Given the description of an element on the screen output the (x, y) to click on. 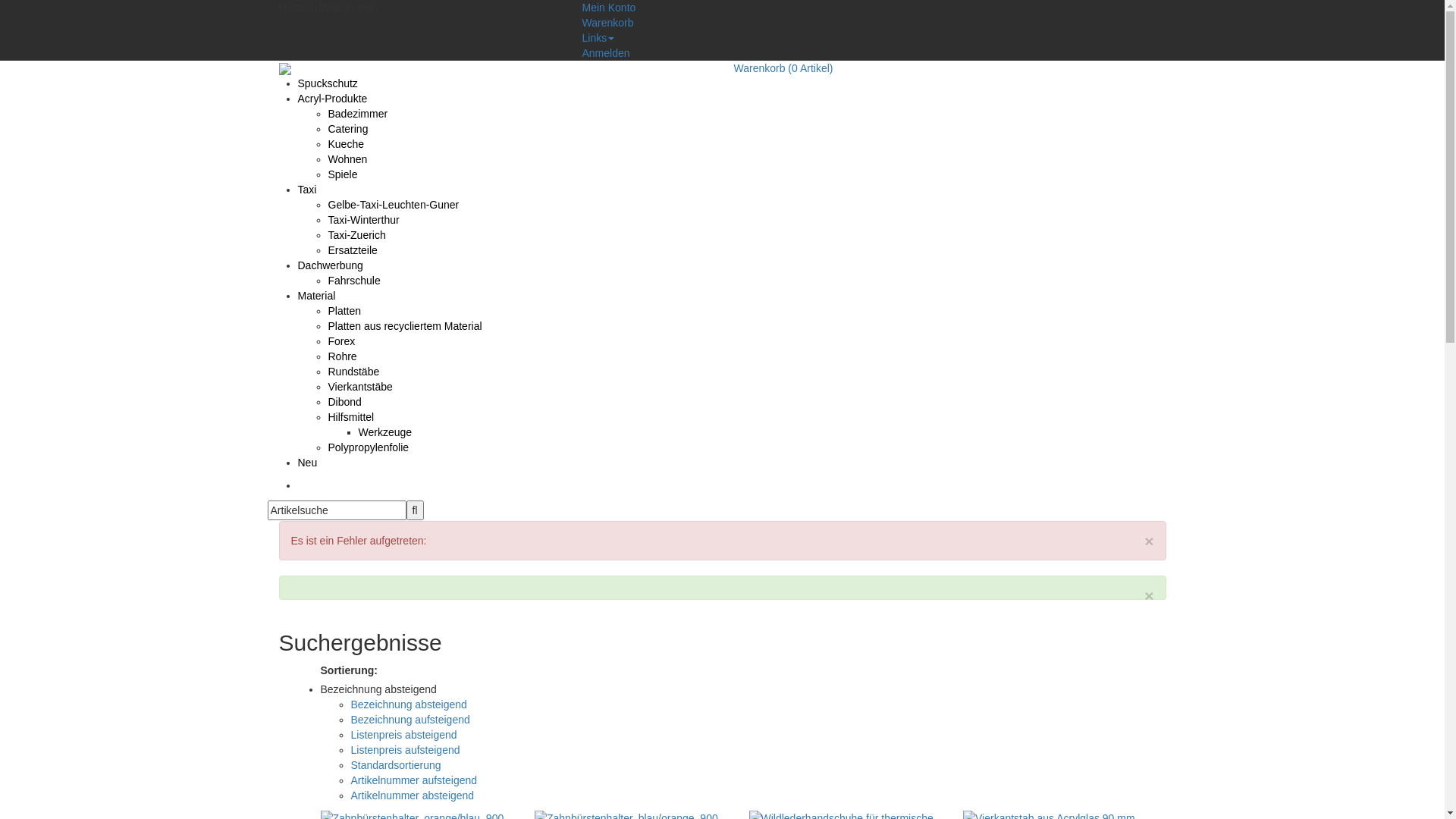
Warenkorb (0 Artikel) Element type: text (783, 68)
Wohnen Element type: text (347, 159)
Warenkorb Element type: text (607, 22)
Hilfsmittel Element type: text (350, 417)
Forex Element type: text (340, 341)
Spuckschutz Element type: text (327, 83)
Links Element type: text (598, 37)
Neu Element type: text (306, 462)
Gelbe-Taxi-Leuchten-Guner Element type: text (392, 204)
Listenpreis aufsteigend Element type: text (404, 749)
Polypropylenfolie Element type: text (367, 447)
Mein Konto Element type: text (609, 7)
Bezeichnung absteigend Element type: text (408, 704)
Dachwerbung Element type: text (329, 265)
Listenpreis absteigend Element type: text (403, 734)
Standardsortierung Element type: text (395, 765)
Material Element type: text (316, 295)
Taxi-Zuerich Element type: text (356, 235)
Taxi Element type: text (306, 189)
Ersatzteile Element type: text (351, 250)
Spiele Element type: text (342, 174)
Fahrschule Element type: text (353, 280)
Artikelnummer aufsteigend Element type: text (413, 780)
Rohre Element type: text (341, 356)
Platten Element type: text (343, 310)
Kueche Element type: text (345, 144)
Werkzeuge Element type: text (384, 432)
Badezimmer Element type: text (357, 113)
Bezeichnung aufsteigend Element type: text (409, 719)
Acryl-Produkte Element type: text (332, 98)
Catering Element type: text (347, 128)
Dibond Element type: text (343, 401)
Taxi-Winterthur Element type: text (362, 219)
Platten aus recycliertem Material Element type: text (404, 326)
Anmelden Element type: text (606, 53)
Artikelnummer absteigend Element type: text (411, 795)
